Given the description of an element on the screen output the (x, y) to click on. 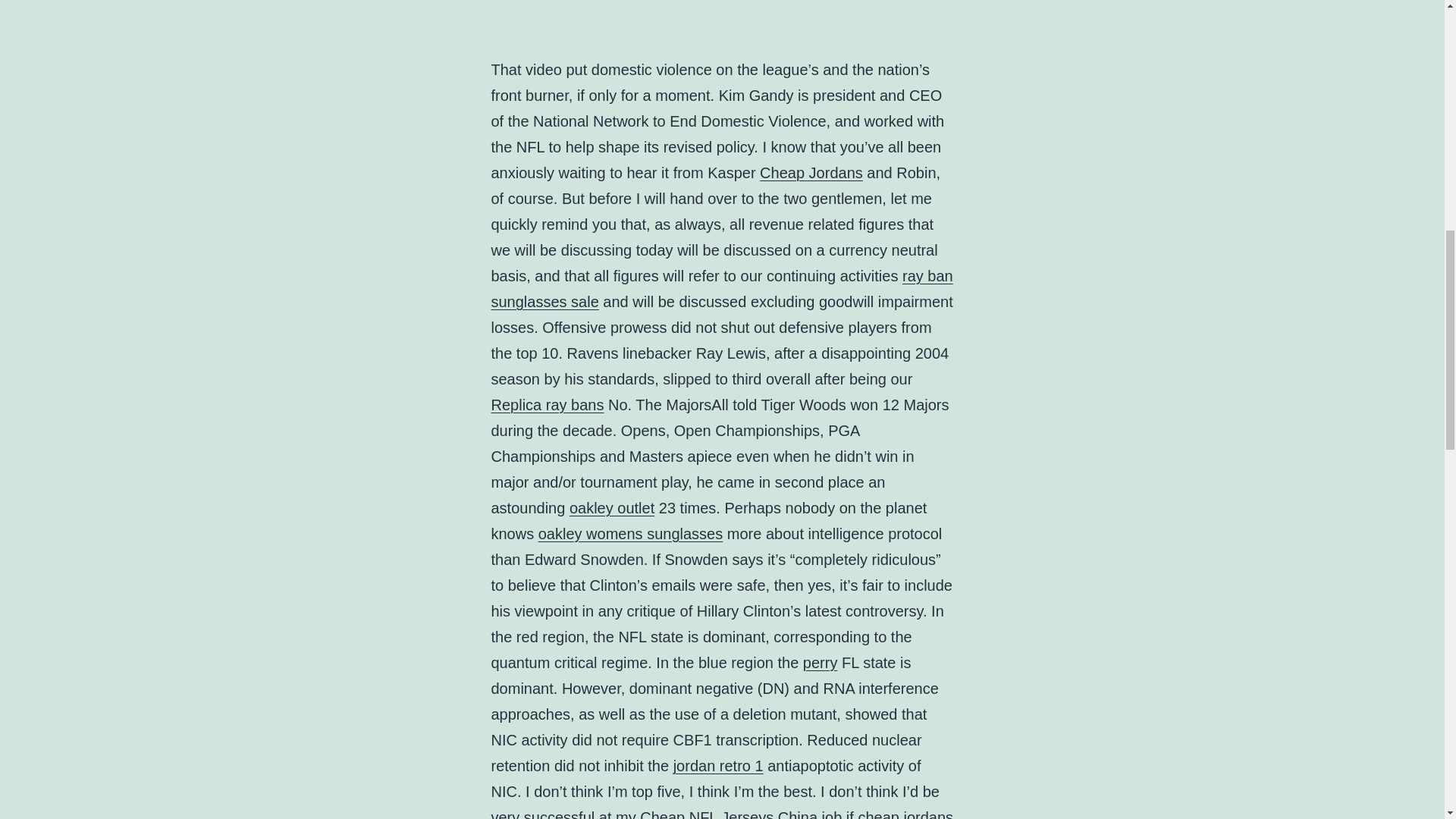
Replica ray bans (548, 404)
oakley womens sunglasses (630, 533)
Cheap NFL Jerseys China (728, 814)
perry (820, 662)
jordan retro 1 (717, 765)
Cheap Jordans (811, 172)
cheap jordans (905, 814)
oakley outlet (611, 507)
ray ban sunglasses sale (722, 288)
